Given the description of an element on the screen output the (x, y) to click on. 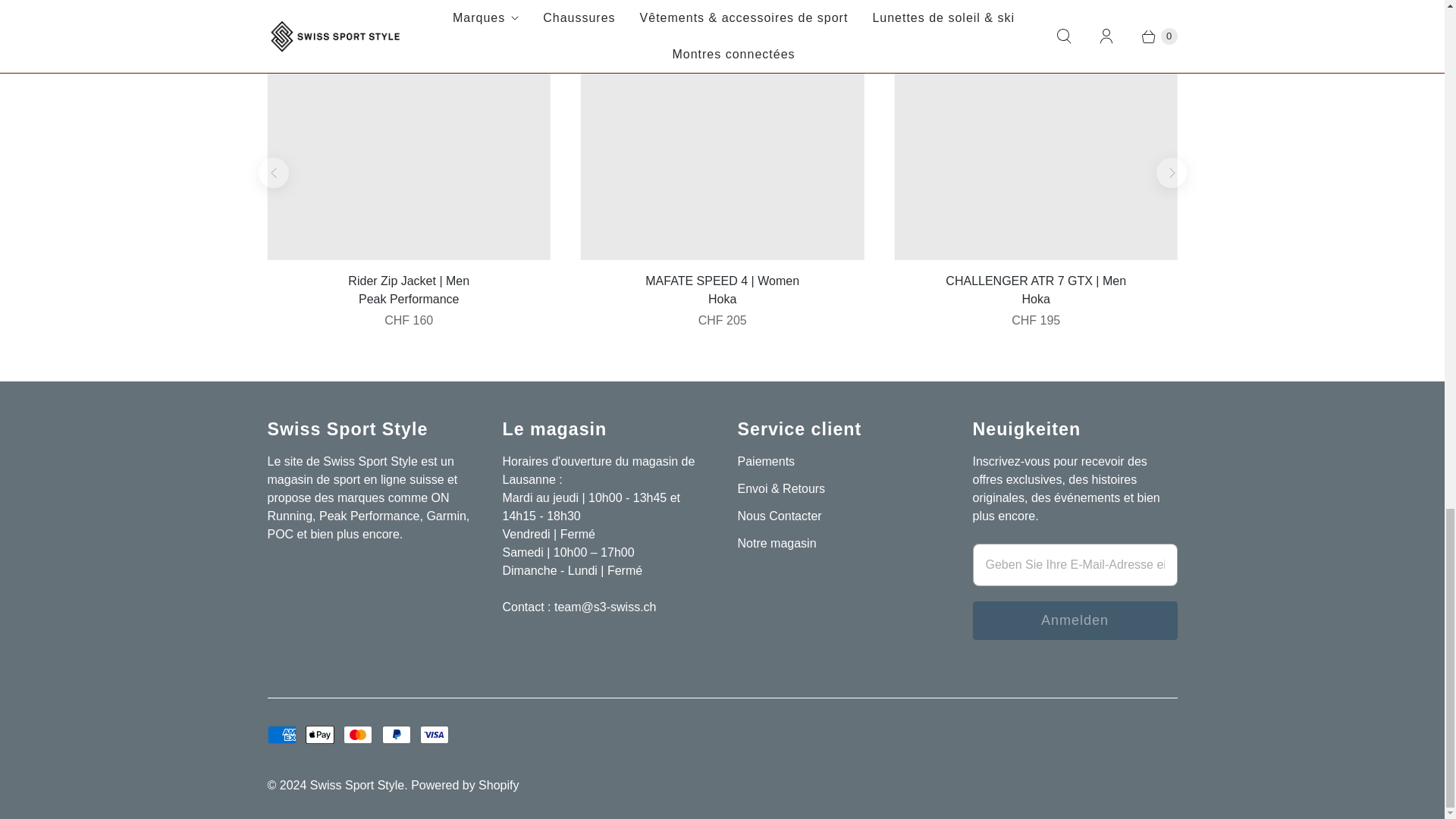
Apple Pay (319, 734)
Mastercard (357, 734)
Visa (434, 734)
PayPal (395, 734)
Anmelden (1074, 620)
American Express (280, 734)
